Given the description of an element on the screen output the (x, y) to click on. 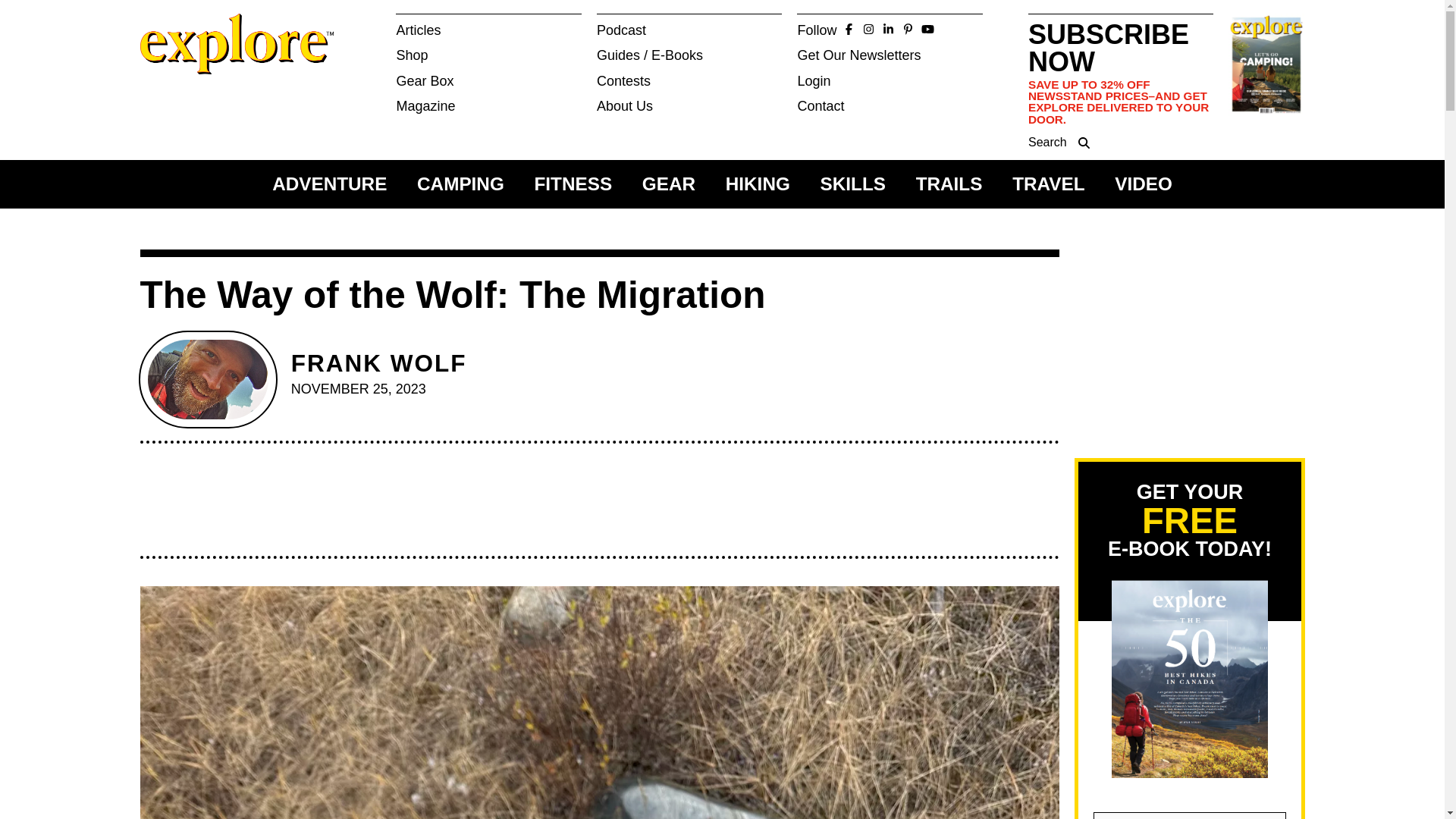
Articles (488, 30)
3rd party ad content (591, 506)
Get Our Newsletters (889, 54)
SKILLS (853, 184)
Shop (488, 54)
Explore Magazine (193, 89)
Contact (889, 106)
GEAR (668, 184)
FITNESS (573, 184)
Next Story (712, 32)
Gear Box (488, 81)
Magazine (488, 106)
Previous Story (596, 32)
ADVENTURE (329, 184)
Podcast (689, 30)
